Given the description of an element on the screen output the (x, y) to click on. 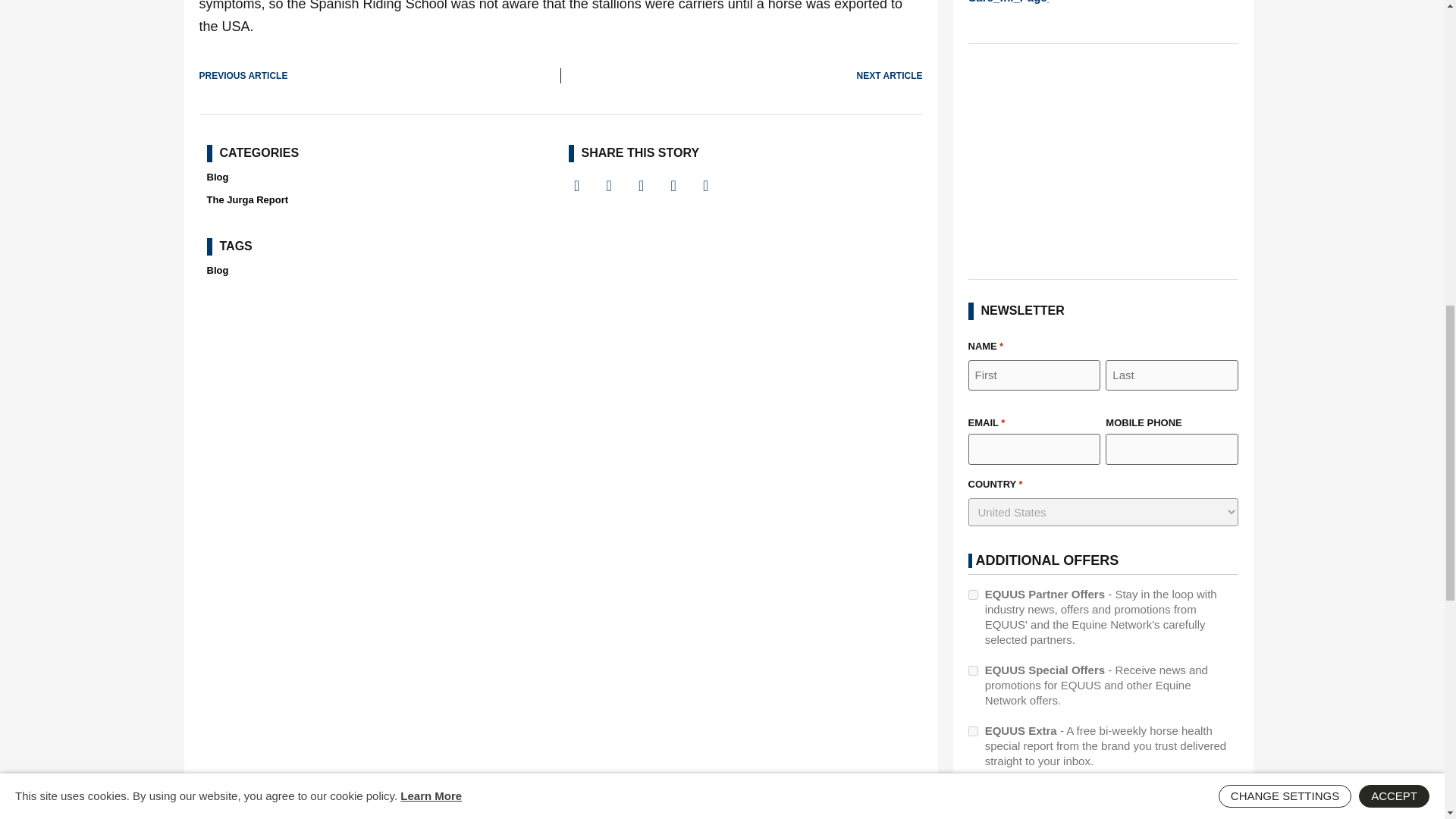
52f26a8f-e5be-4237-a9cb-227d8912a511 (972, 594)
SMS Notifications (972, 791)
591f5baa-e9c3-40bf-bf02-f5923680caa3 (972, 670)
Get ready for winter! (1008, 10)
0cd2e389-c43e-4146-b3bb-59ab437fd8f4 (972, 731)
3rd party ad content (1103, 161)
